Given the description of an element on the screen output the (x, y) to click on. 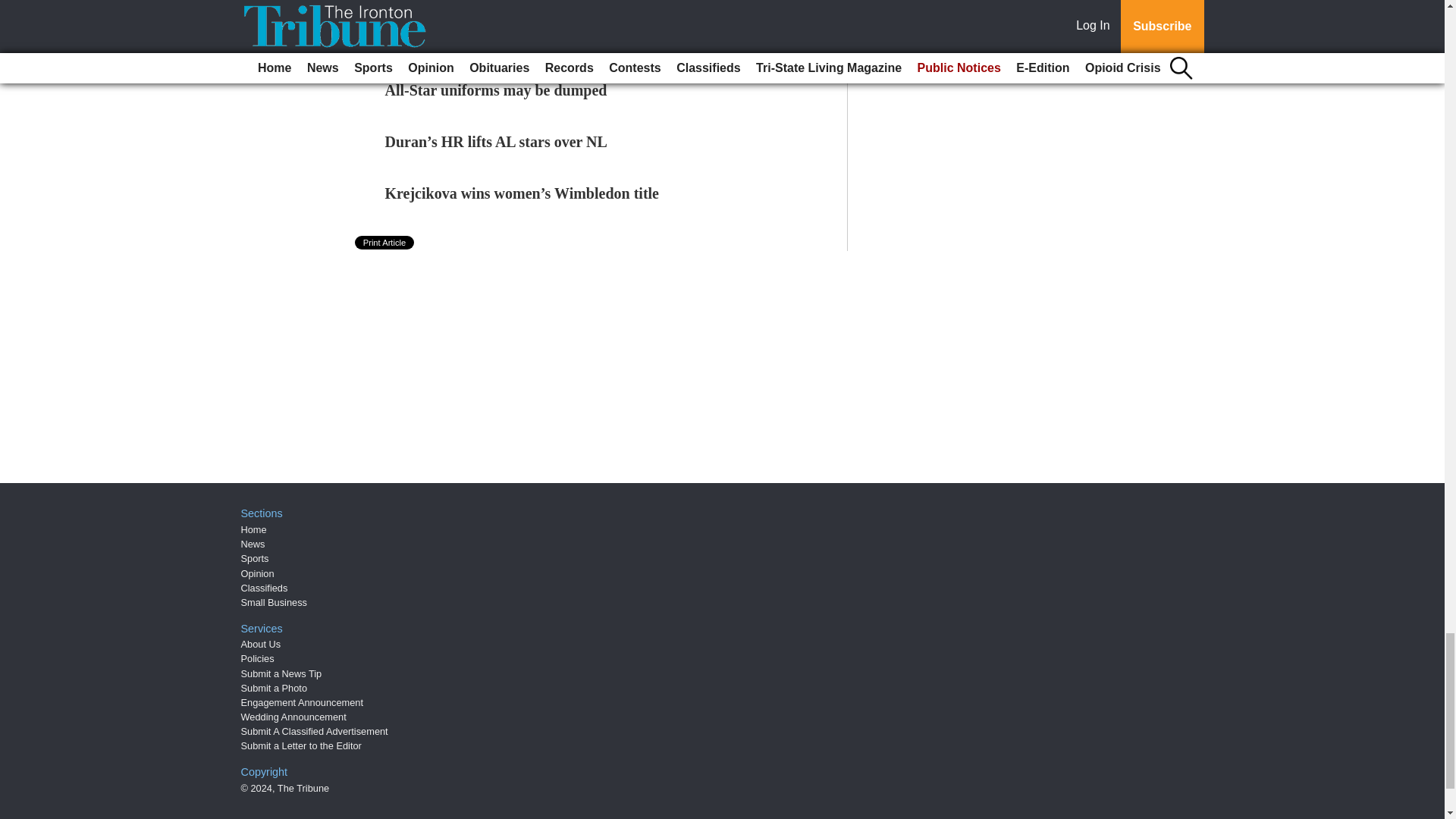
Opinion (258, 573)
News (252, 543)
Classifieds (264, 587)
All-Star uniforms may be dumped (496, 89)
Print Article (384, 242)
Sports (255, 558)
All-Star uniforms may be dumped (496, 89)
Home (253, 529)
